Given the description of an element on the screen output the (x, y) to click on. 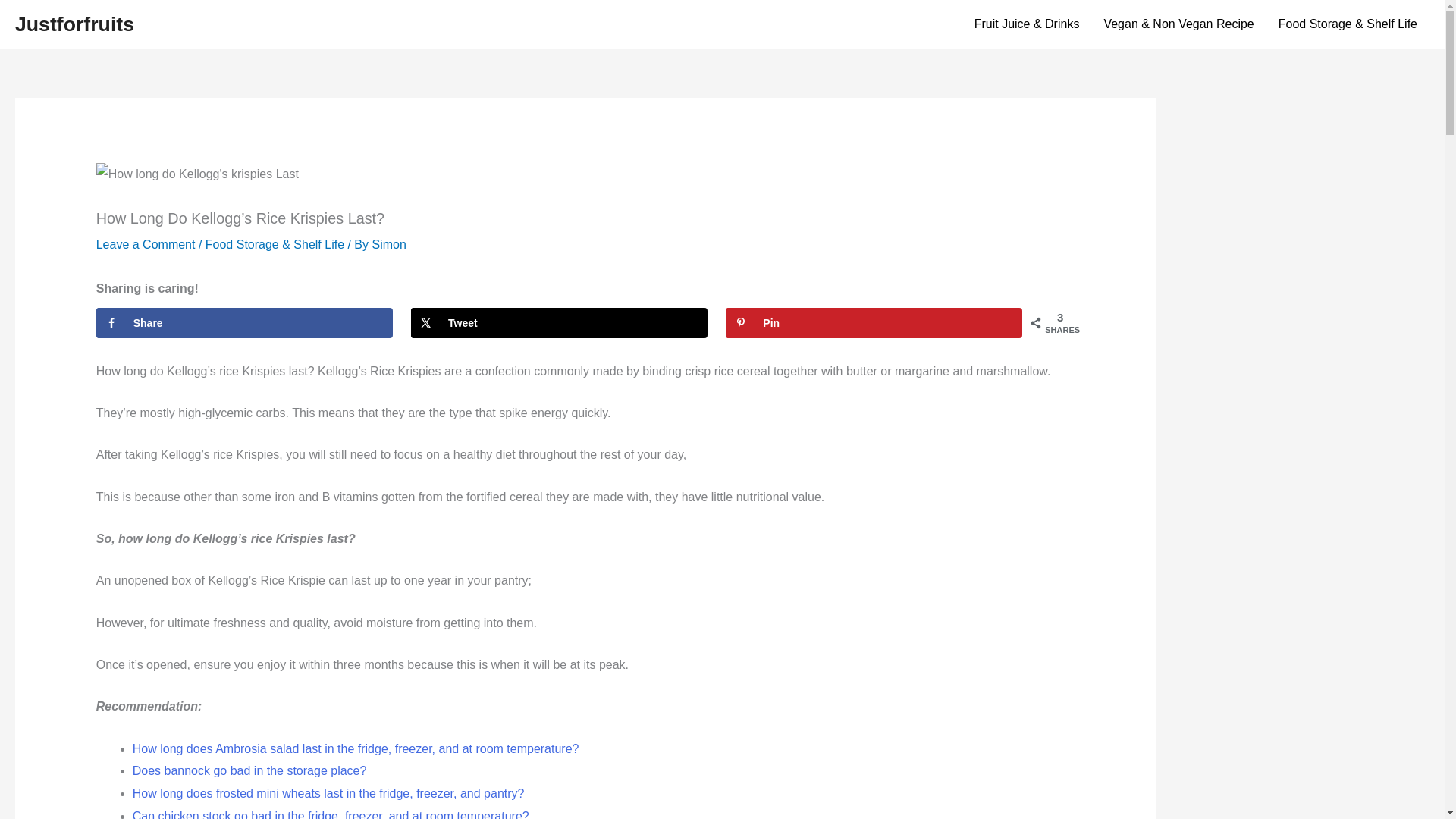
Leave a Comment (145, 244)
Does bannock go bad in the storage place? (249, 770)
Share on X (558, 322)
Share on Facebook (244, 322)
Justforfruits (73, 24)
Simon (388, 244)
View all posts by Simon (388, 244)
Save to Pinterest (873, 322)
Pin (873, 322)
Share (244, 322)
Tweet (558, 322)
